Given the description of an element on the screen output the (x, y) to click on. 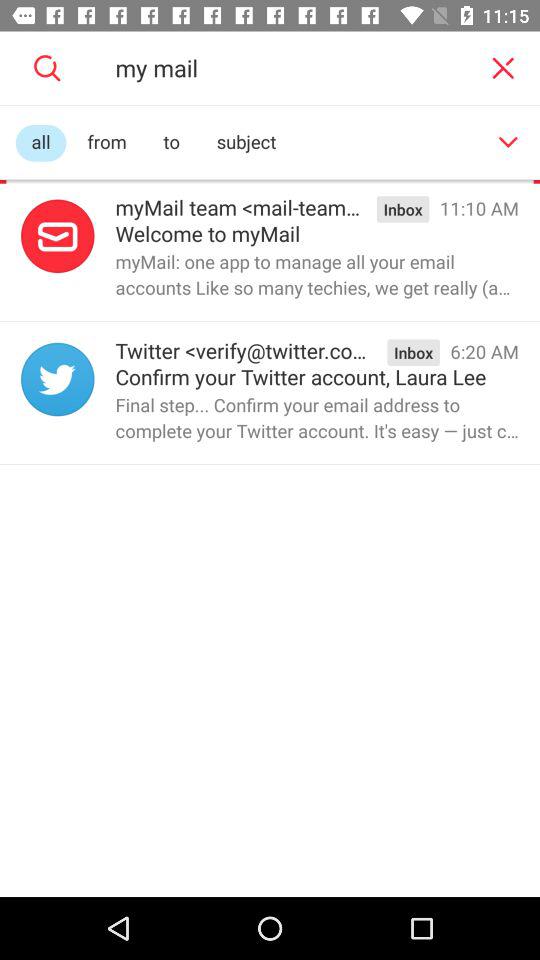
tap the icon to the right of my mail icon (502, 67)
